Given the description of an element on the screen output the (x, y) to click on. 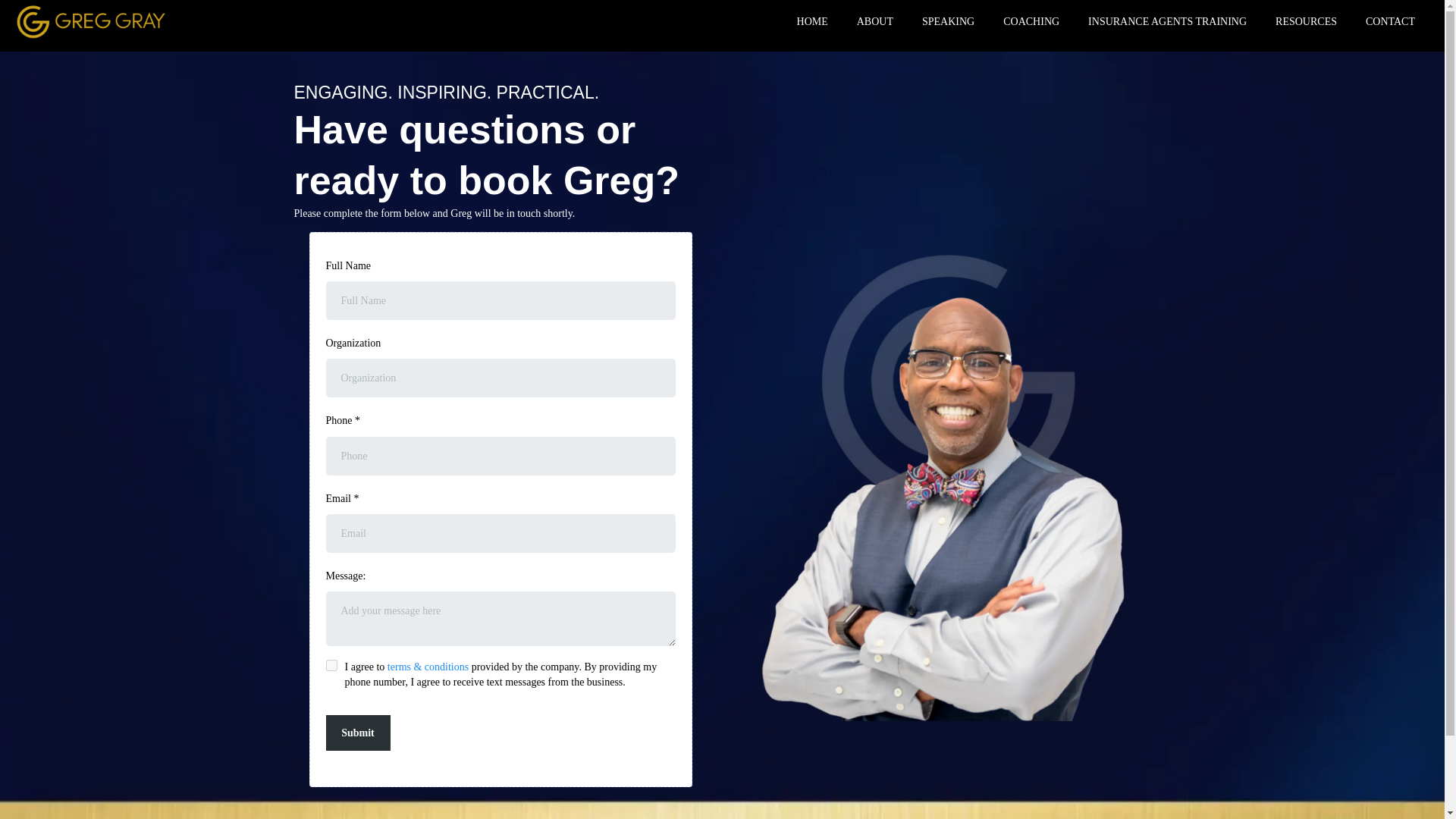
SPEAKING (947, 22)
ABOUT (875, 22)
CONTACT (1390, 22)
INSURANCE AGENTS TRAINING (1167, 22)
RESOURCES (1305, 22)
COACHING (1031, 22)
HOME (813, 22)
Submit (358, 732)
